Given the description of an element on the screen output the (x, y) to click on. 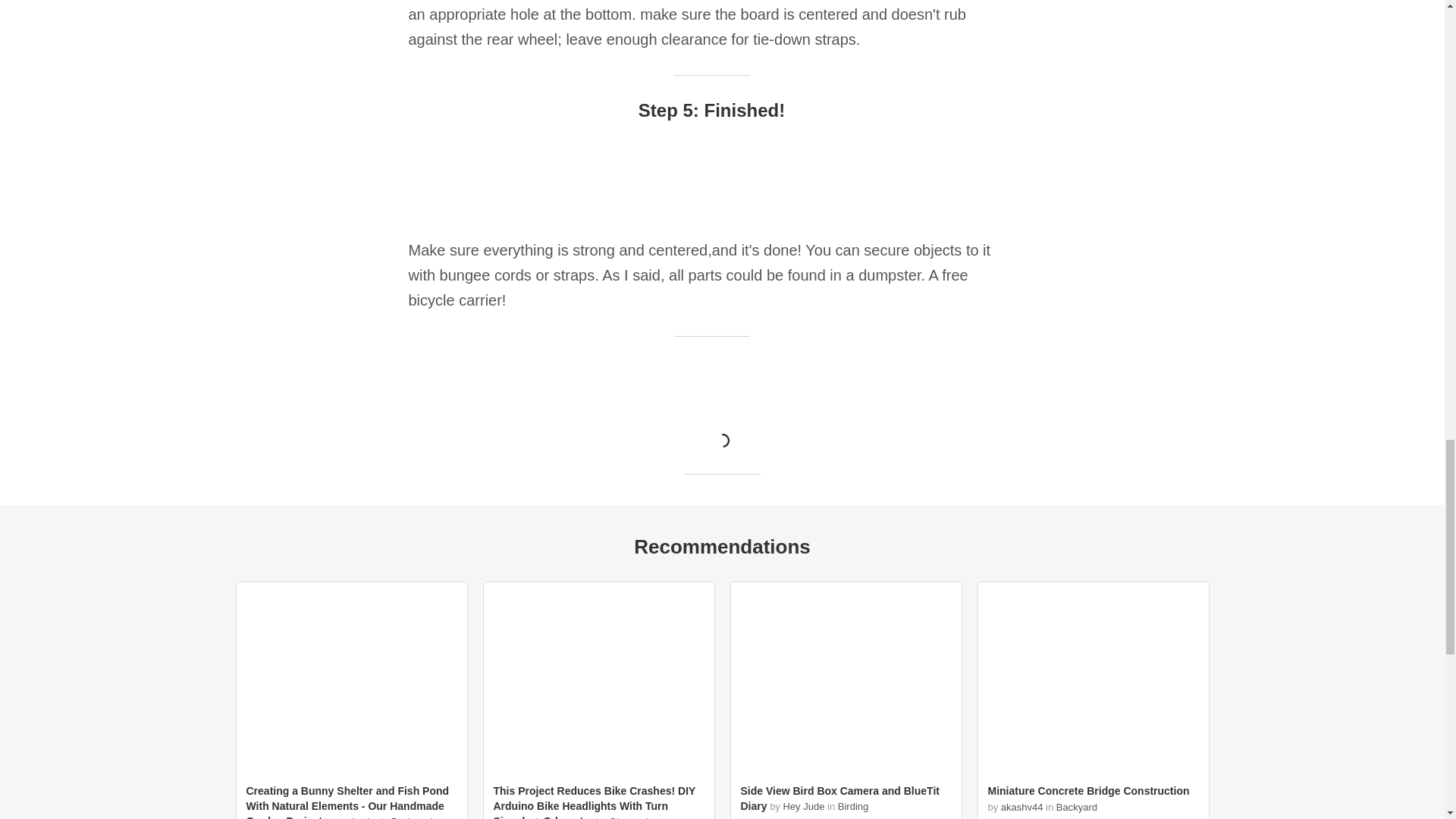
Hey Jude (803, 806)
Miniature Concrete Bridge Construction (1088, 790)
akashv44 (1022, 807)
Giovanni Aggiustatutto (570, 817)
Side View Bird Box Camera and BlueTit Diary (839, 798)
Backyard (411, 817)
amitsaha (357, 817)
Birding (852, 806)
